Given the description of an element on the screen output the (x, y) to click on. 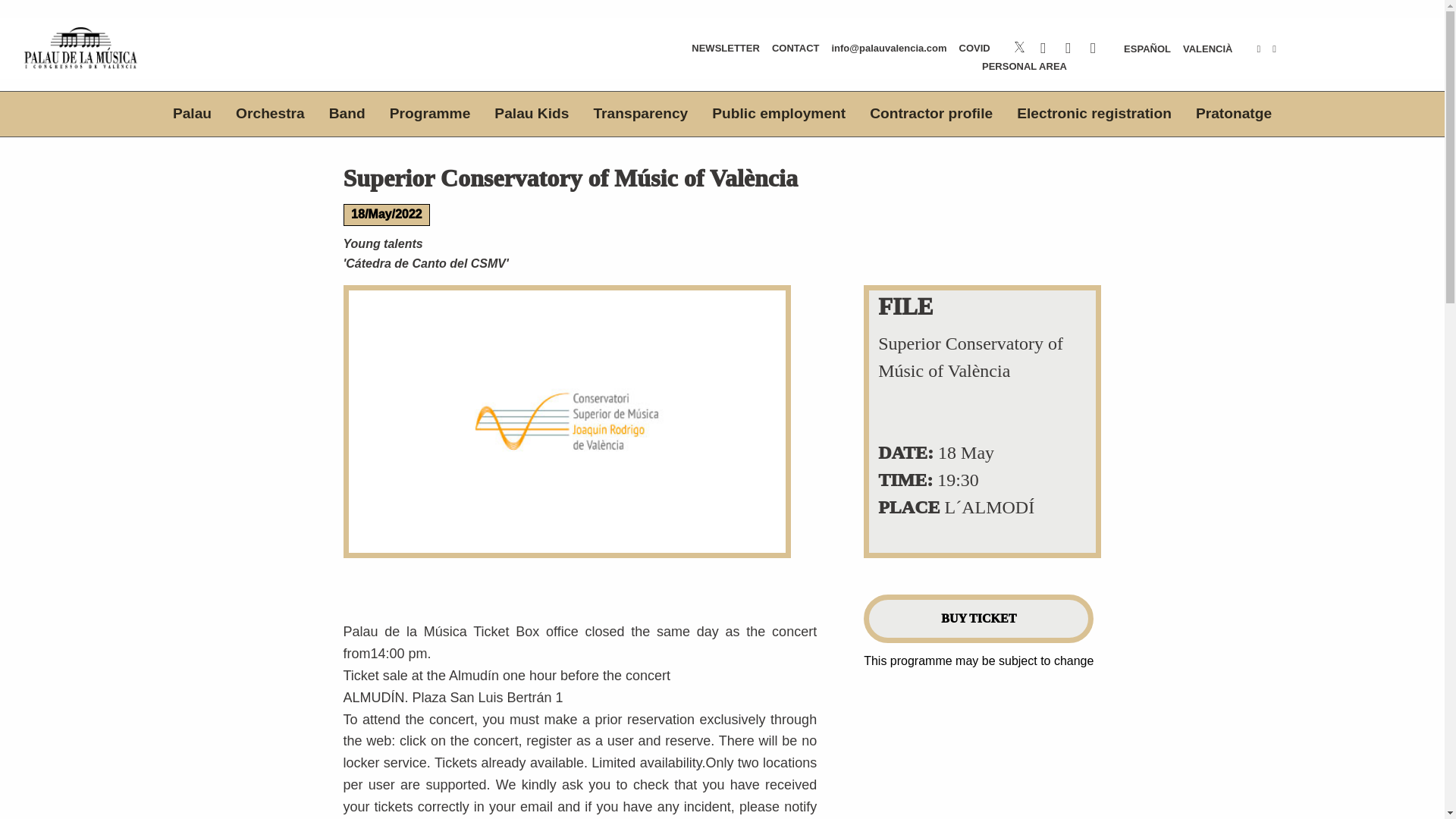
Orchestra (270, 113)
CONTACT (795, 48)
COVID (974, 48)
Palau (192, 113)
NEWSLETTER (725, 48)
Band (347, 113)
PERSONAL AREA (1024, 66)
